Given the description of an element on the screen output the (x, y) to click on. 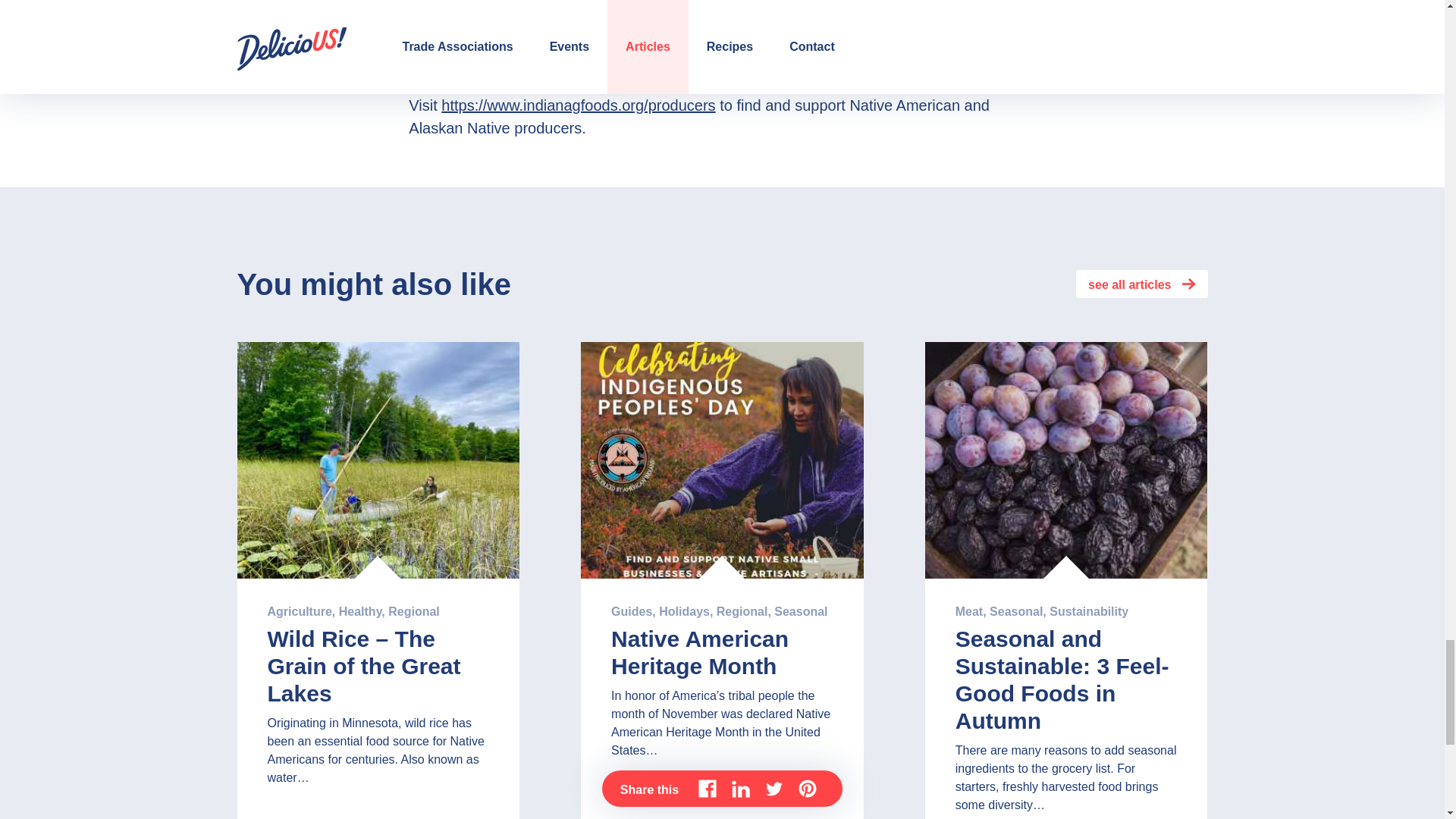
see all articles (1141, 284)
